Given the description of an element on the screen output the (x, y) to click on. 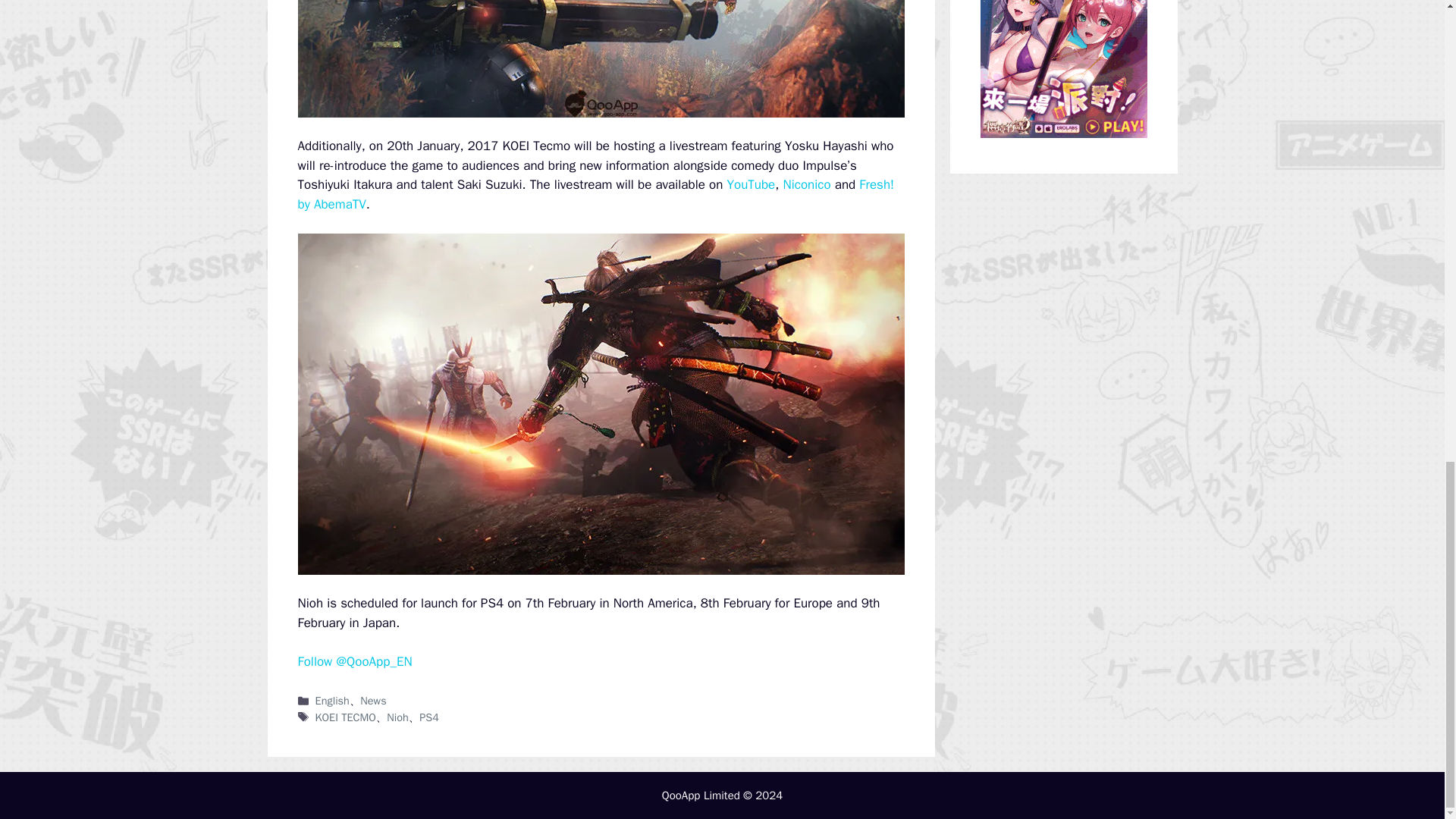
News (372, 700)
KOEI TECMO (345, 716)
Fresh! by AbemaTV (595, 194)
YouTube (750, 184)
English (332, 700)
Nioh (398, 716)
Niconico (806, 184)
